Given the description of an element on the screen output the (x, y) to click on. 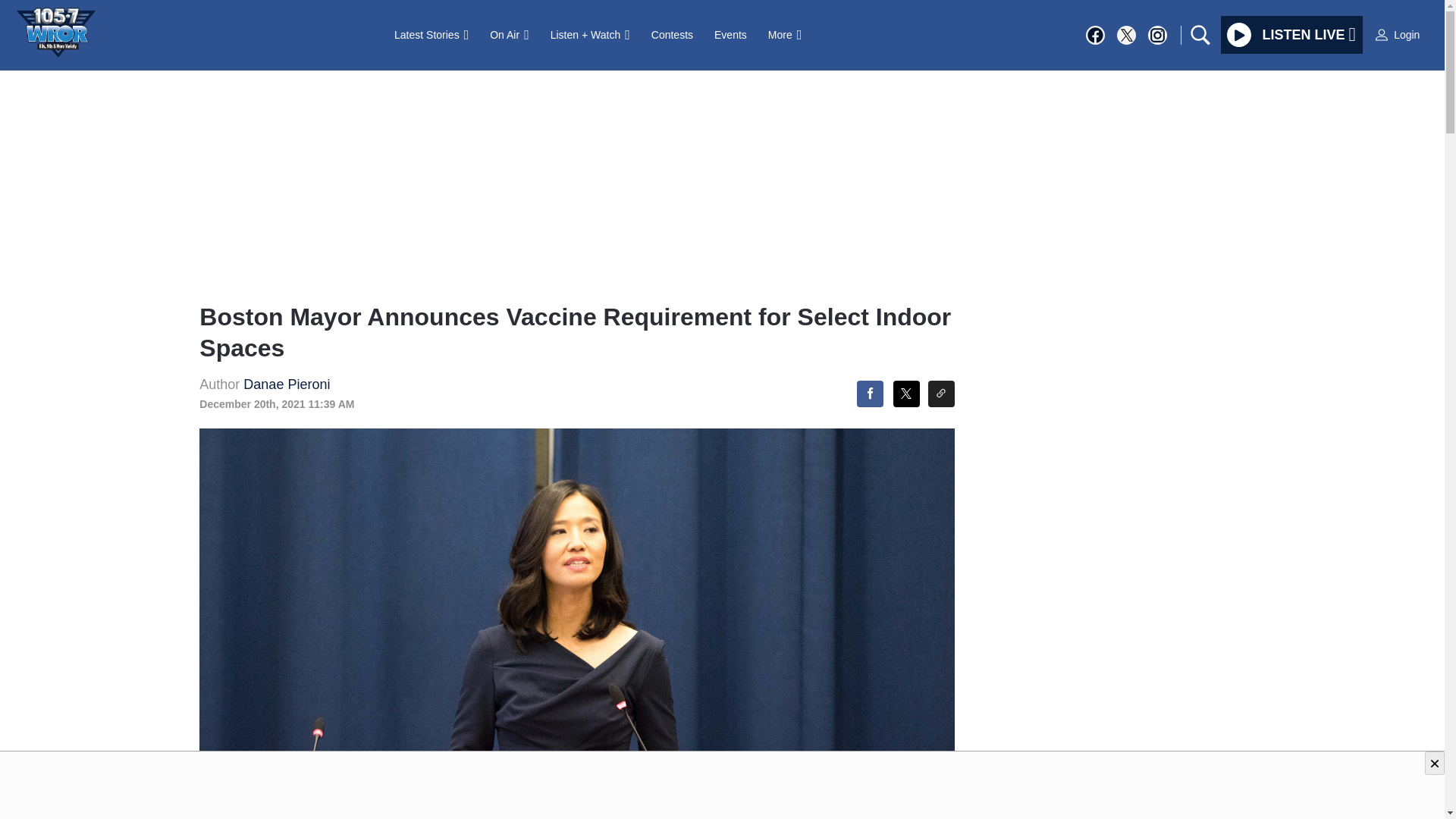
Danae Pieroni (286, 384)
Events (730, 34)
Close AdCheckmark indicating ad close (1434, 763)
Latest Stories (431, 34)
Contests (671, 34)
On Air (508, 34)
More (784, 34)
